Given the description of an element on the screen output the (x, y) to click on. 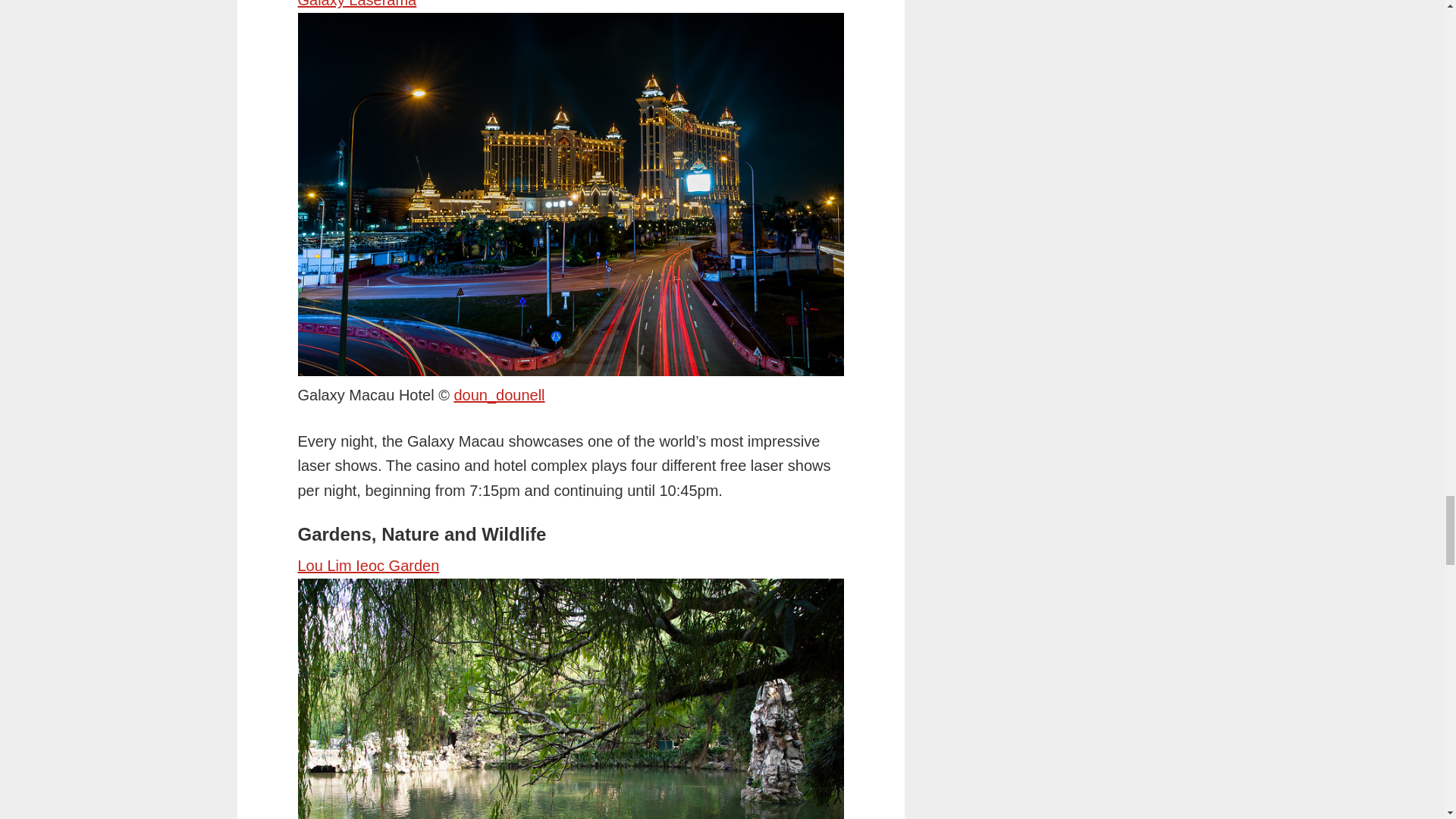
Lou Lim Ieoc Garden (368, 565)
Galaxy Laserama (356, 4)
Galaxy Macau Hotel (498, 394)
